Given the description of an element on the screen output the (x, y) to click on. 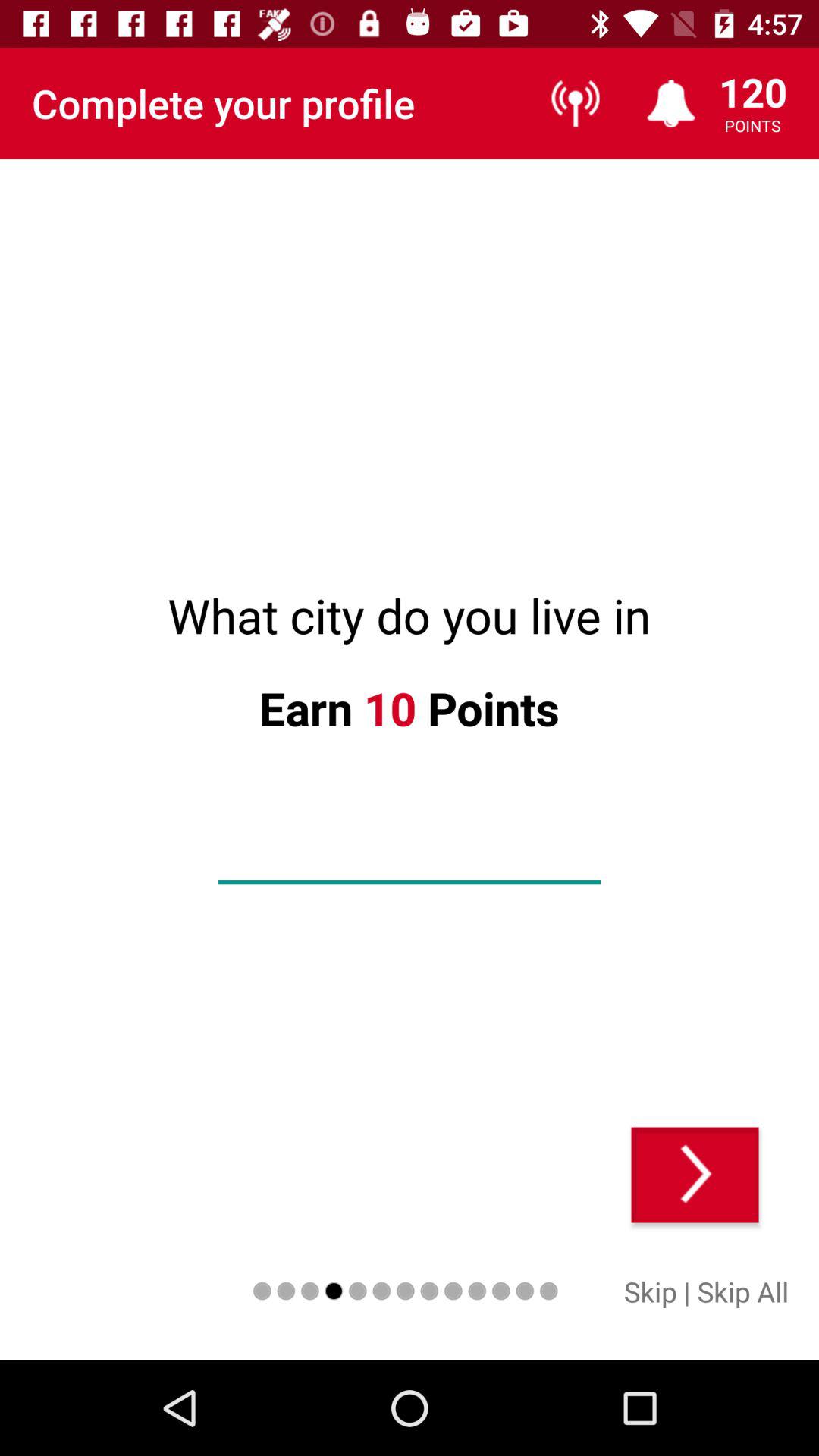
choose item next to  |  icon (742, 1291)
